Given the description of an element on the screen output the (x, y) to click on. 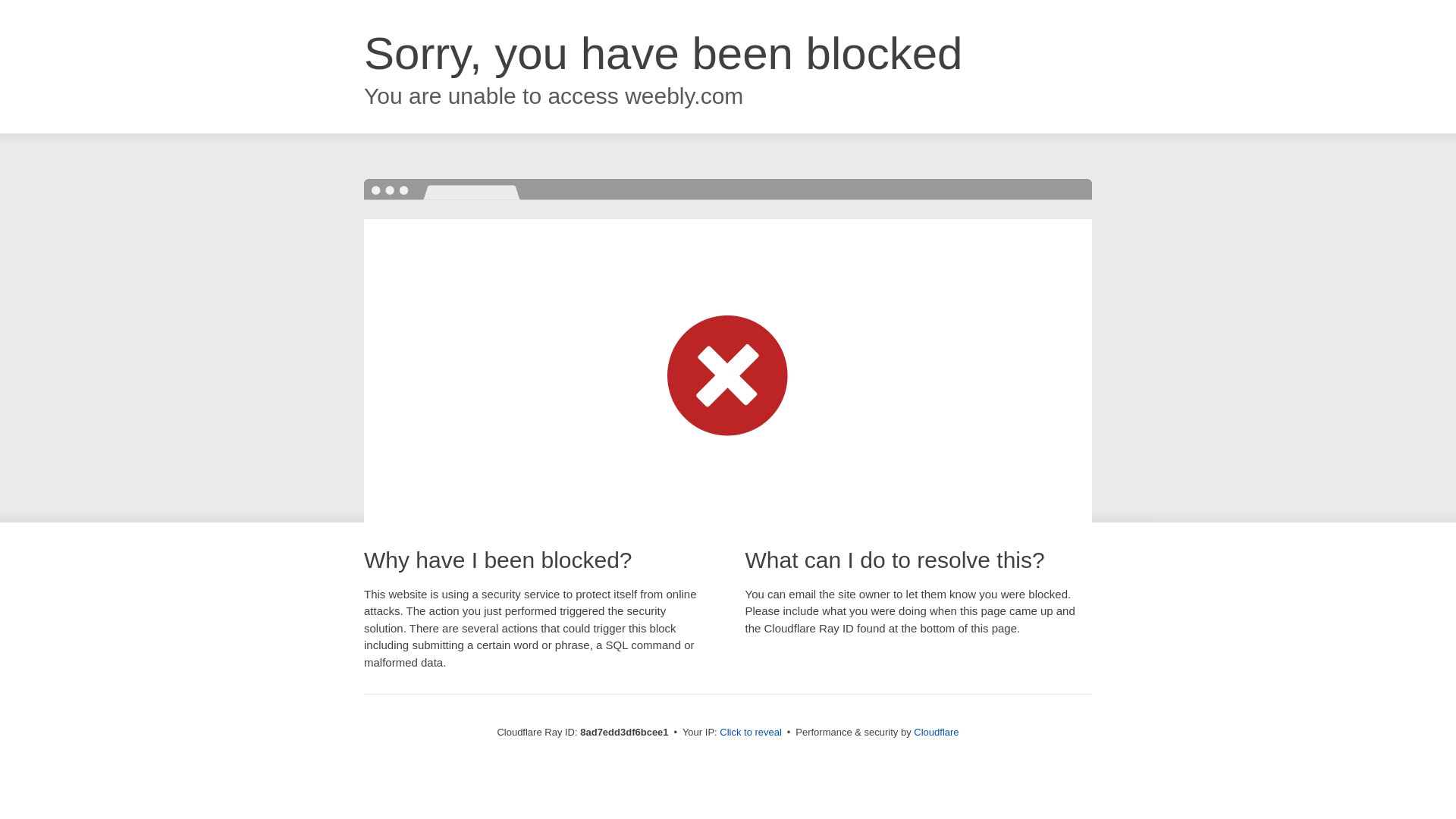
Cloudflare (935, 731)
Click to reveal (749, 732)
